Given the description of an element on the screen output the (x, y) to click on. 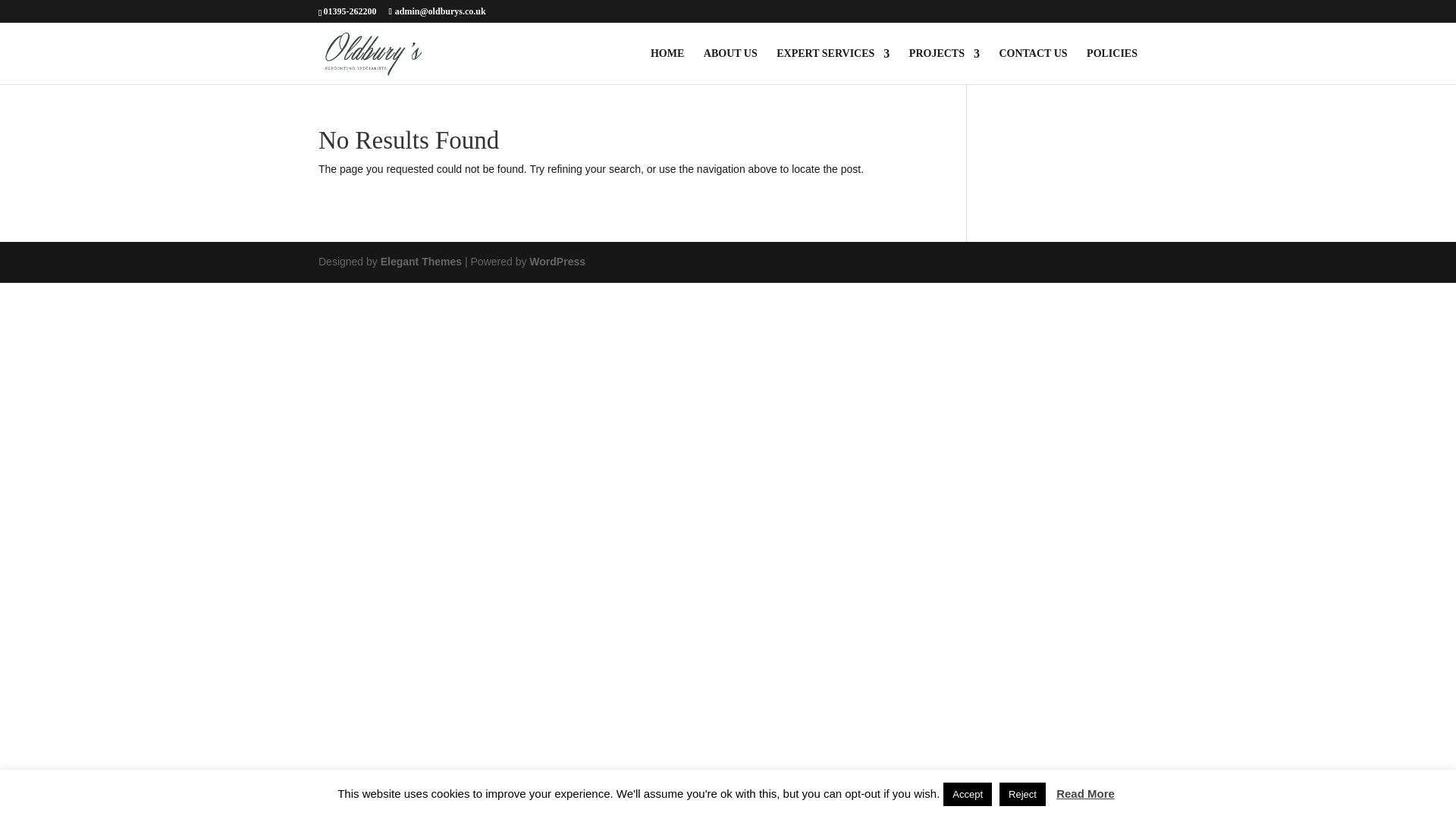
WordPress (557, 261)
HOME (667, 66)
CONTACT US (1032, 66)
ABOUT US (730, 66)
EXPERT SERVICES (832, 66)
01395-262200 (349, 10)
Elegant Themes (420, 261)
PROJECTS (943, 66)
POLICIES (1111, 66)
Premium WordPress Themes (420, 261)
